Given the description of an element on the screen output the (x, y) to click on. 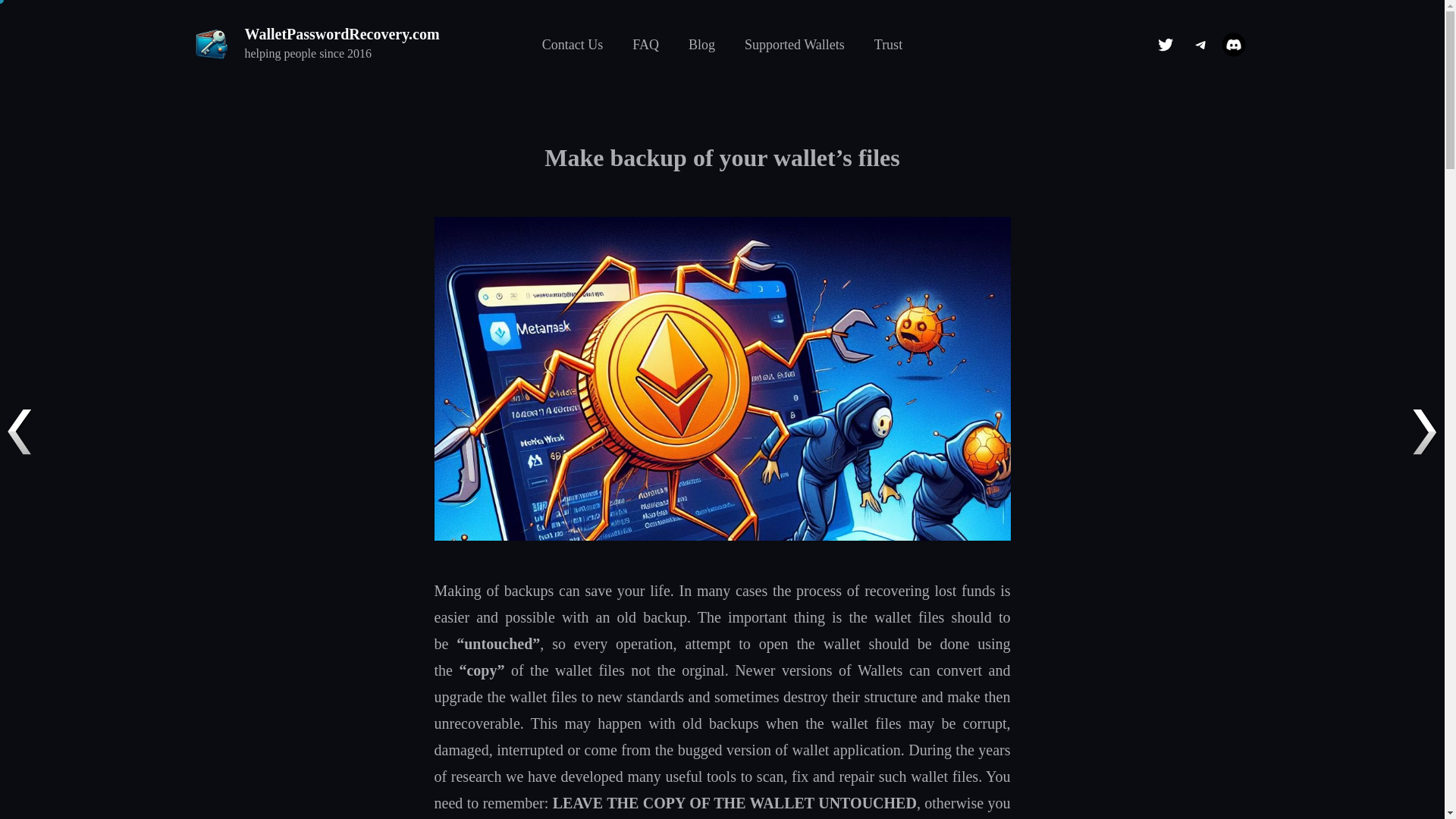
Telegram (1200, 44)
Contact Us (572, 44)
Twitter (1165, 44)
WalletPasswordRecovery.com (341, 33)
Supported Wallets (793, 44)
